Given the description of an element on the screen output the (x, y) to click on. 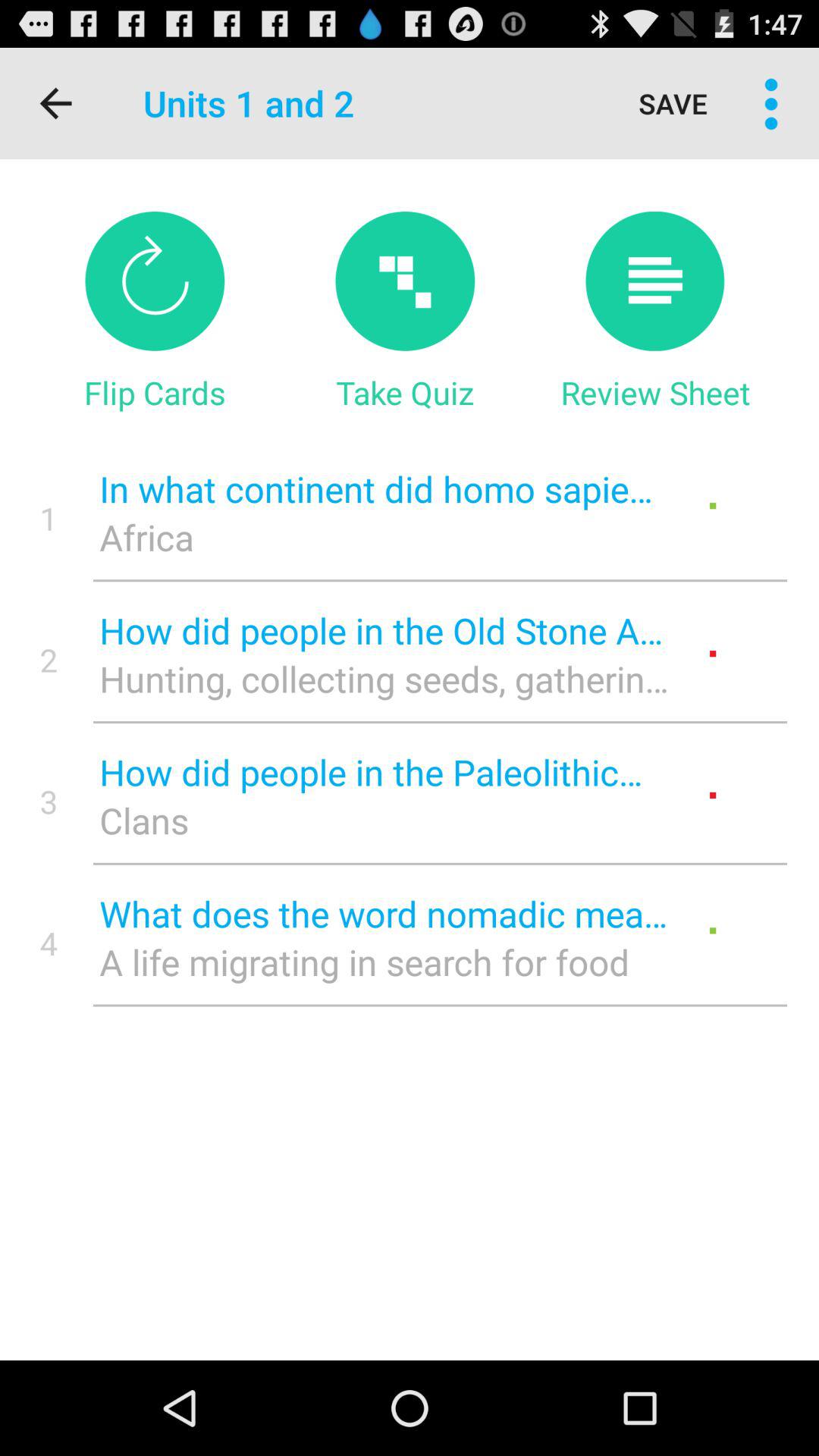
turn on icon below what does the icon (384, 961)
